Given the description of an element on the screen output the (x, y) to click on. 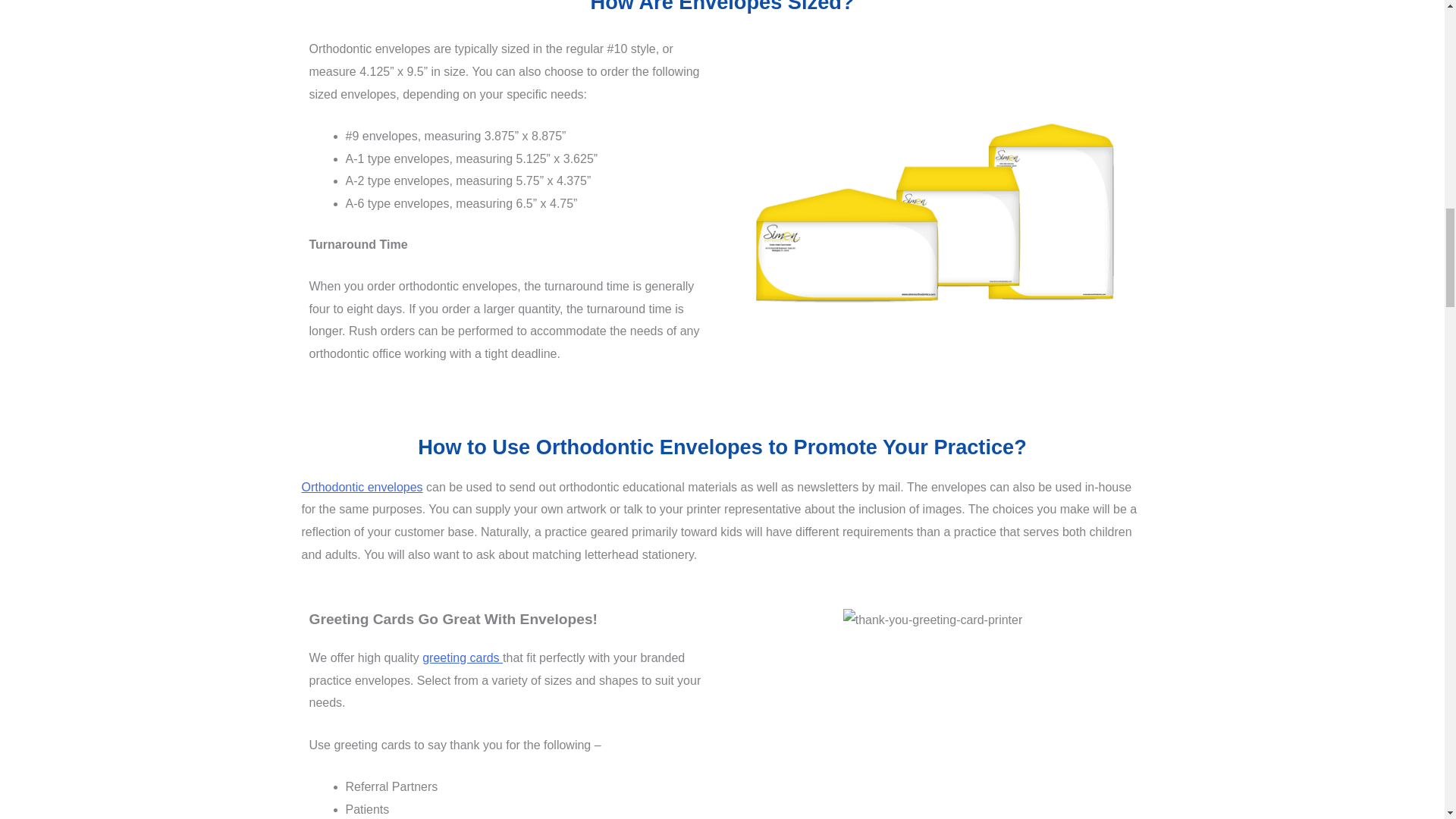
thank-you-greeting-card-printer (933, 620)
